Given the description of an element on the screen output the (x, y) to click on. 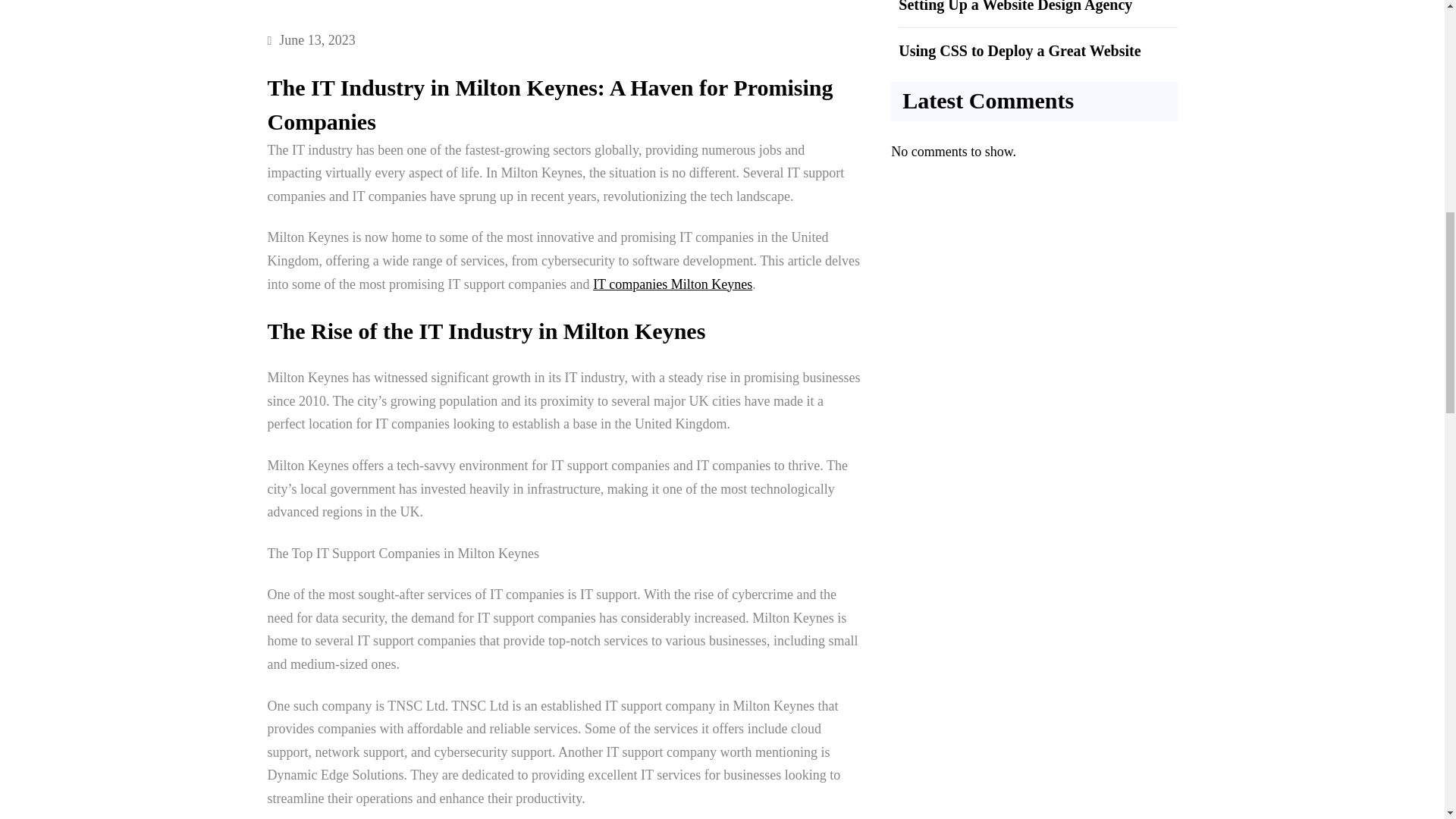
IT companies Milton Keynes (672, 283)
June 13, 2023 (317, 39)
Setting Up a Website Design Agency (1015, 6)
Using CSS to Deploy a Great Website (1019, 50)
